Given the description of an element on the screen output the (x, y) to click on. 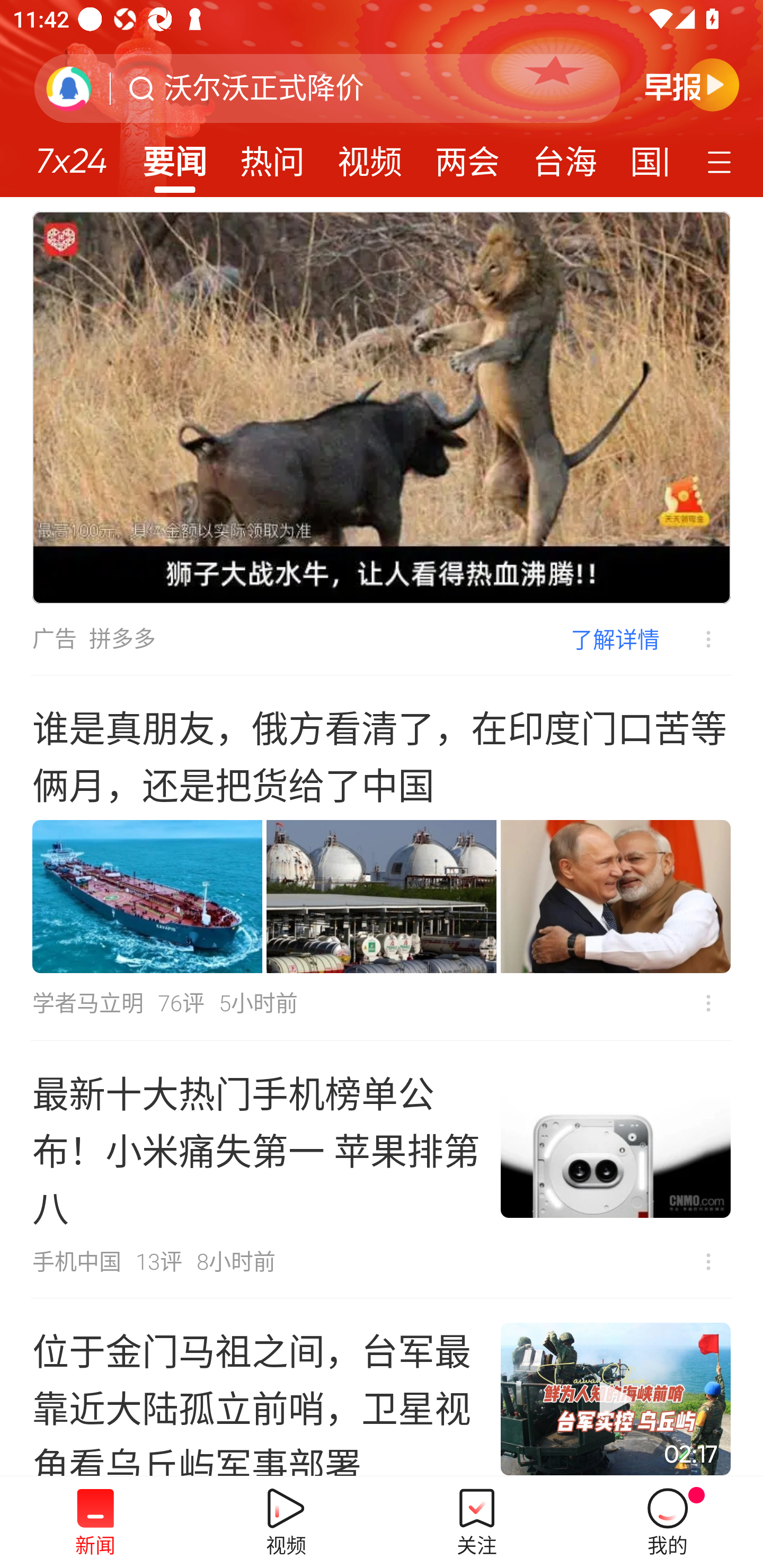
早晚报 (691, 84)
刷新 (68, 88)
沃尔沃正式降价 (263, 88)
7x24 (70, 154)
要闻 (174, 155)
热问 (272, 155)
视频 (369, 155)
两会 (466, 155)
台海 (564, 155)
 定制频道 (721, 160)
 不感兴趣 (694, 638)
了解详情 (614, 638)
广告 (54, 638)
拼多多 (122, 638)
 不感兴趣 (707, 1003)
最新十大热门手机榜单公布！小米痛失第一 苹果排第八 手机中国 13评 8小时前  不感兴趣 (381, 1169)
 不感兴趣 (707, 1262)
位于金门马祖之间，台军最靠近大陆孤立前哨，卫星视角看乌丘屿军事部署 02:17 (381, 1387)
